Given the description of an element on the screen output the (x, y) to click on. 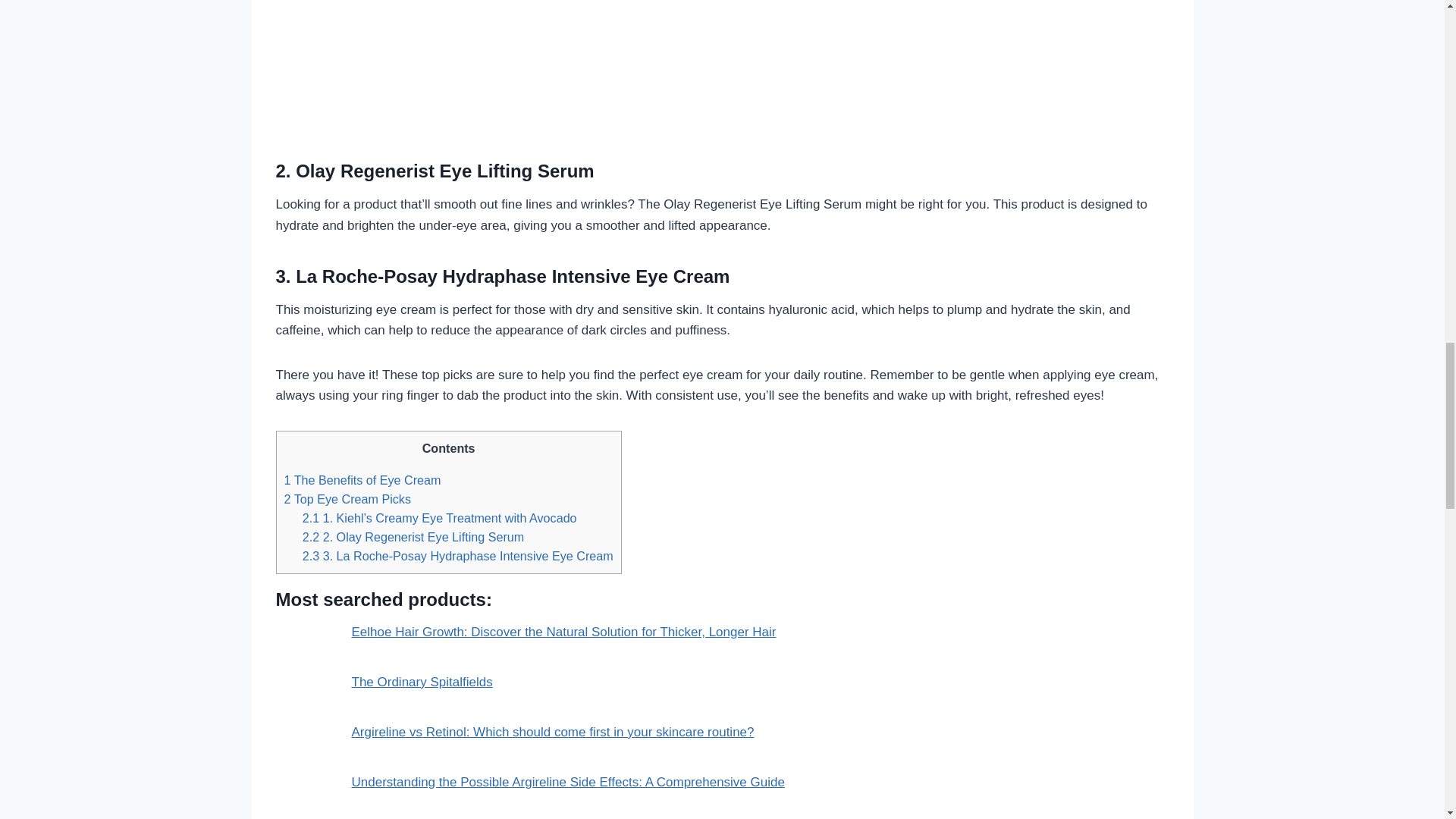
2.2 2. Olay Regenerist Eye Lifting Serum (413, 536)
2 Top Eye Cream Picks (346, 499)
1 The Benefits of Eye Cream (362, 479)
2.3 3. La Roche-Posay Hydraphase Intensive Eye Cream (457, 555)
The Ordinary Spitalfields (422, 681)
